Given the description of an element on the screen output the (x, y) to click on. 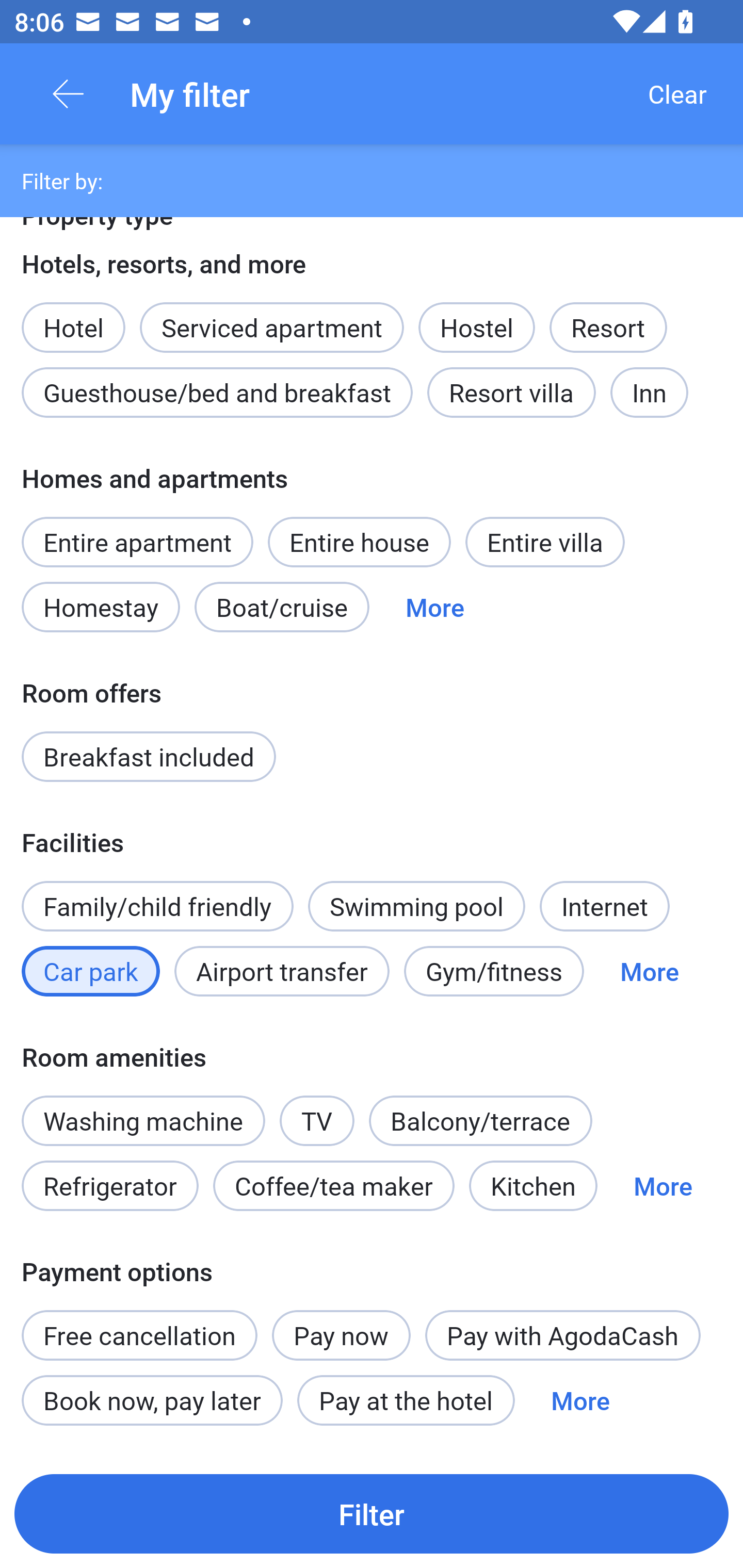
Clear (676, 93)
Hotel (73, 316)
Serviced apartment (271, 316)
Hostel (476, 327)
Resort (608, 327)
Guesthouse/bed and breakfast (217, 392)
Resort villa (511, 392)
Inn (649, 392)
Entire apartment (137, 541)
Entire house (359, 541)
Entire villa (544, 541)
Homestay (100, 607)
Boat/cruise (281, 607)
More (434, 607)
Breakfast included (148, 756)
Family/child friendly (157, 906)
Swimming pool (416, 906)
Internet (604, 906)
Airport transfer (281, 971)
Gym/fitness (493, 971)
More (649, 971)
Washing machine (143, 1120)
TV (317, 1110)
Balcony/terrace (480, 1120)
Refrigerator (109, 1186)
Coffee/tea maker (333, 1186)
Kitchen (532, 1186)
More (663, 1186)
Free cancellation (139, 1324)
Pay now (340, 1335)
Pay with AgodaCash (562, 1335)
Book now, pay later (152, 1400)
Pay at the hotel (405, 1400)
More (580, 1400)
Filter (371, 1513)
